Given the description of an element on the screen output the (x, y) to click on. 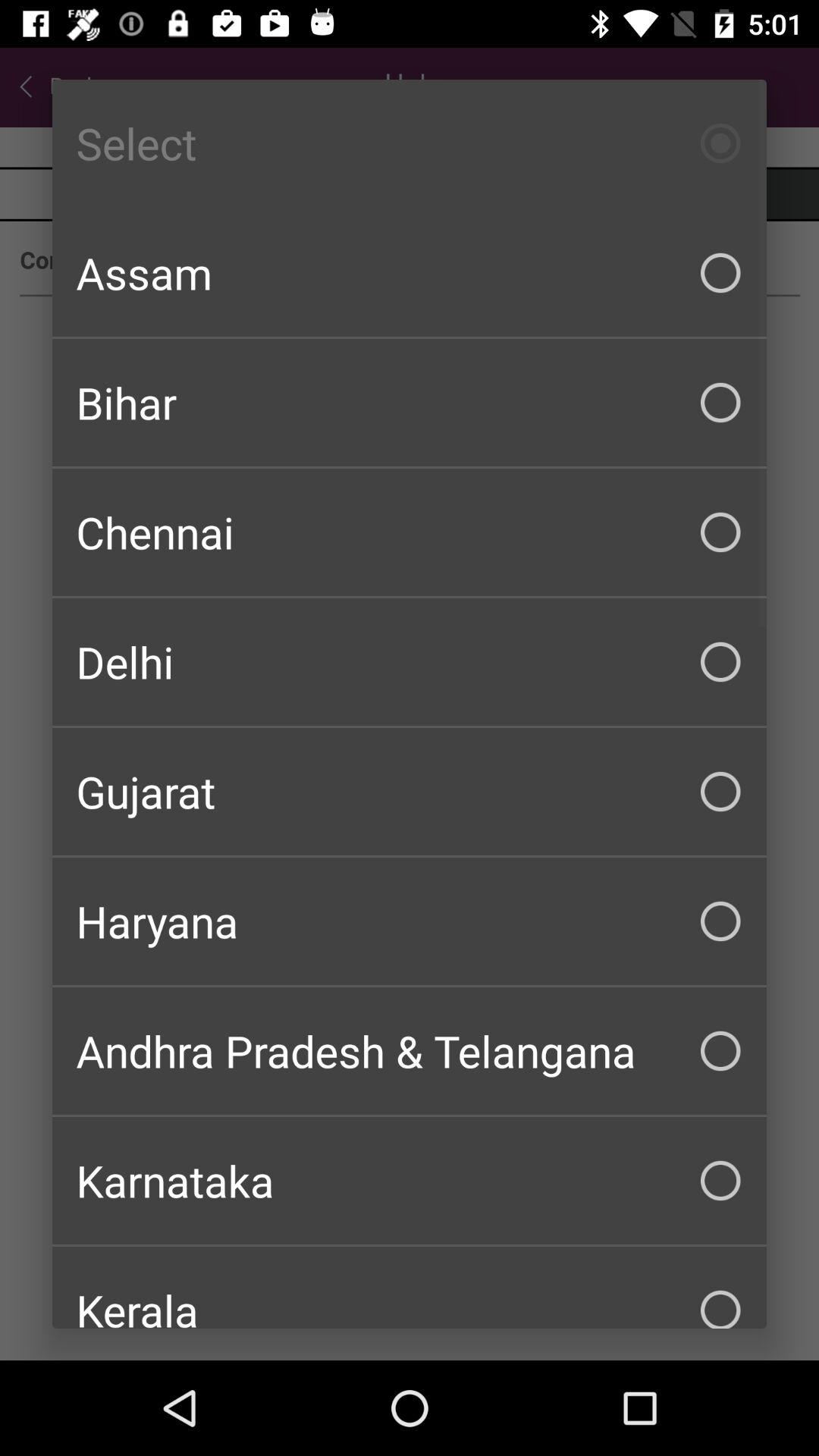
press icon above the gujarat item (409, 661)
